Given the description of an element on the screen output the (x, y) to click on. 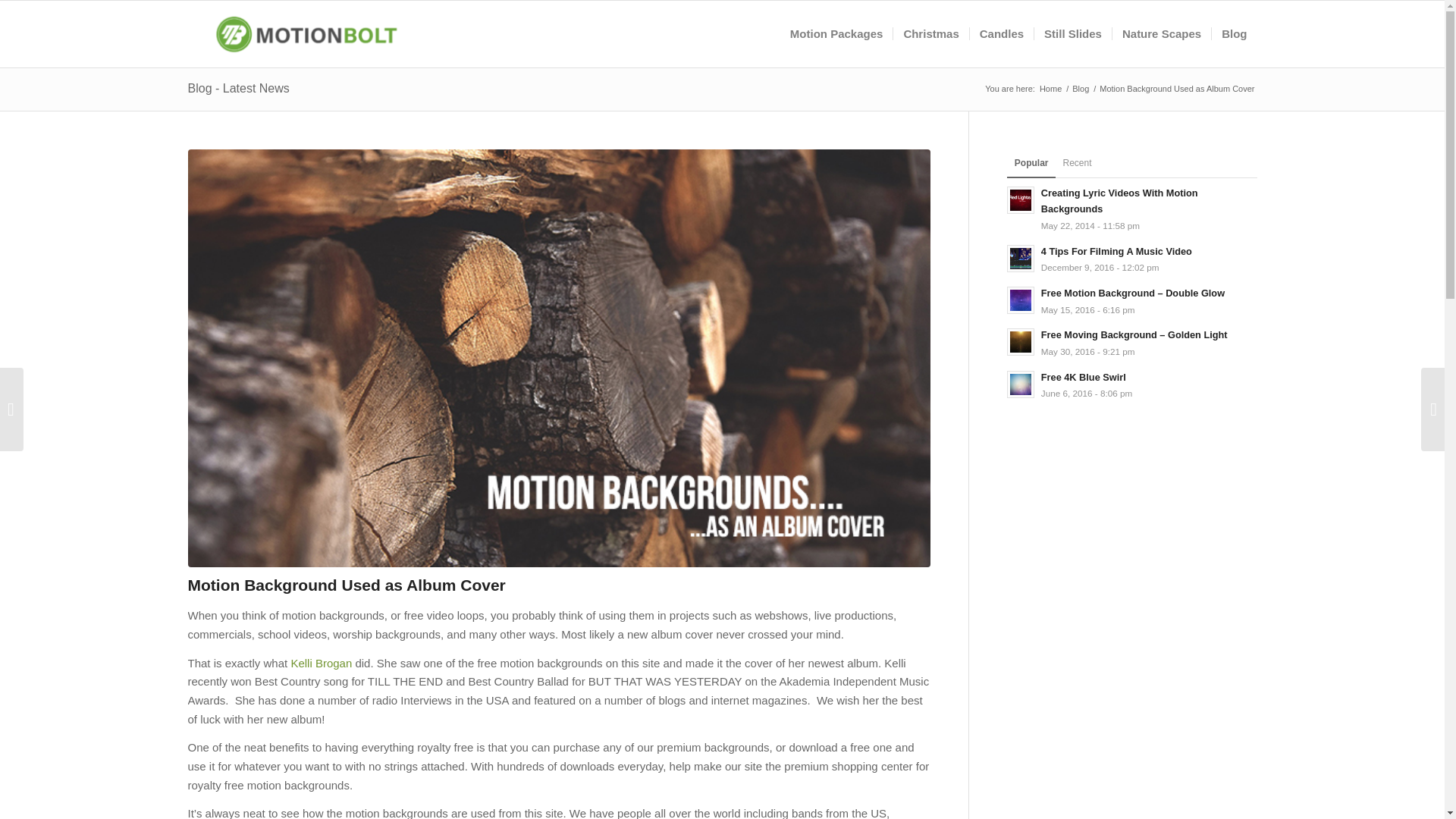
Kelli Brogan (320, 662)
Permanent Link: Blog - Latest News (238, 88)
Blog - Latest News (238, 88)
Christmas (930, 33)
4 Tips For Filming A Music Video (1116, 251)
Still Slides (1072, 33)
Motion Packages (836, 33)
Free 4K Blue Swirl (1083, 377)
Candles (1001, 33)
